Given the description of an element on the screen output the (x, y) to click on. 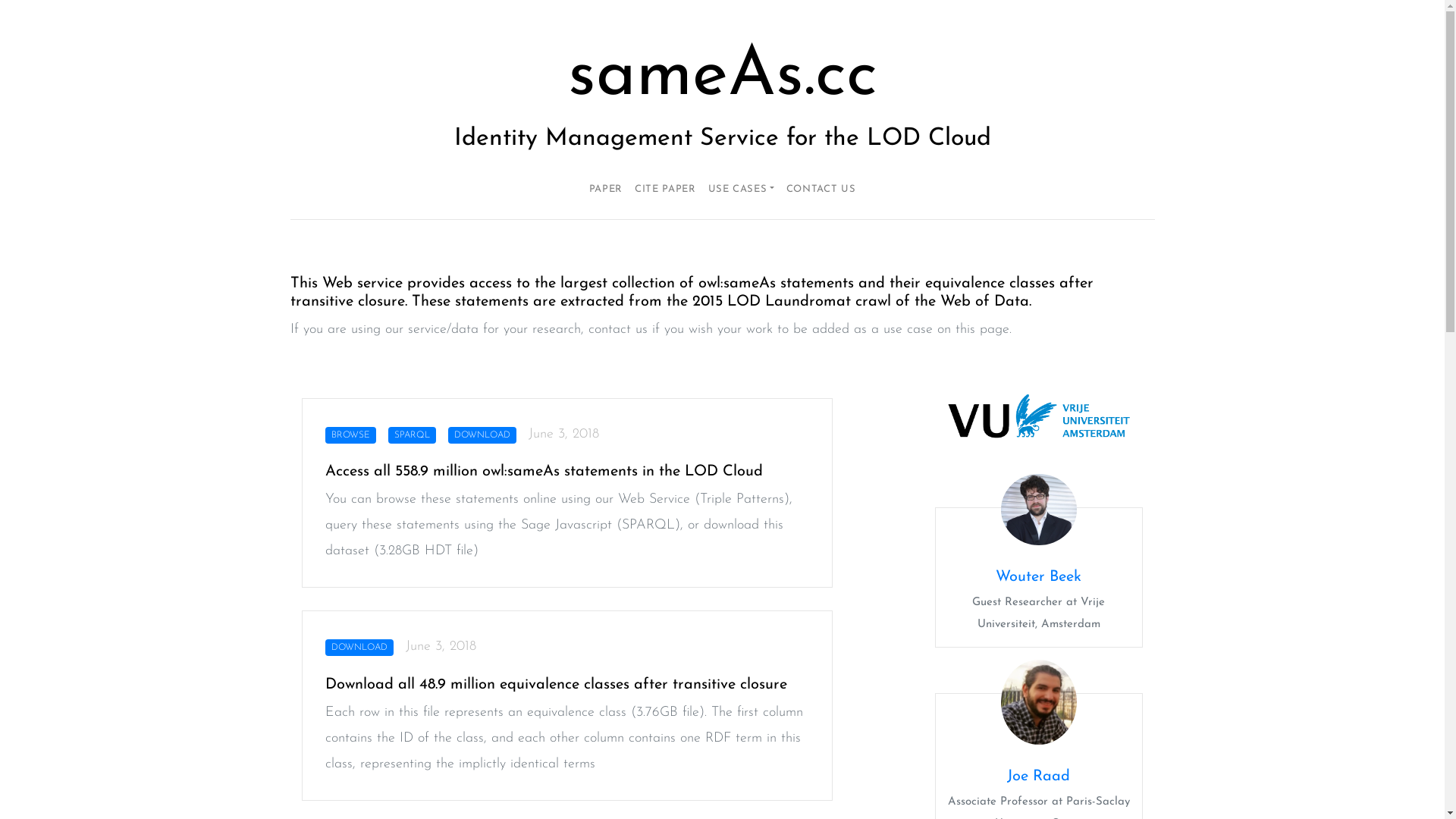
DOWNLOAD Element type: text (485, 433)
USE CASES Element type: text (741, 189)
BROWSE Element type: text (353, 433)
SPARQL Element type: text (415, 433)
sameAs.cc Element type: text (721, 76)
Joe Raad Element type: text (1038, 776)
CITE PAPER Element type: text (665, 189)
Wouter Beek Element type: text (1038, 576)
PAPER Element type: text (605, 189)
DOWNLOAD Element type: text (362, 646)
CONTACT US Element type: text (821, 189)
